Given the description of an element on the screen output the (x, y) to click on. 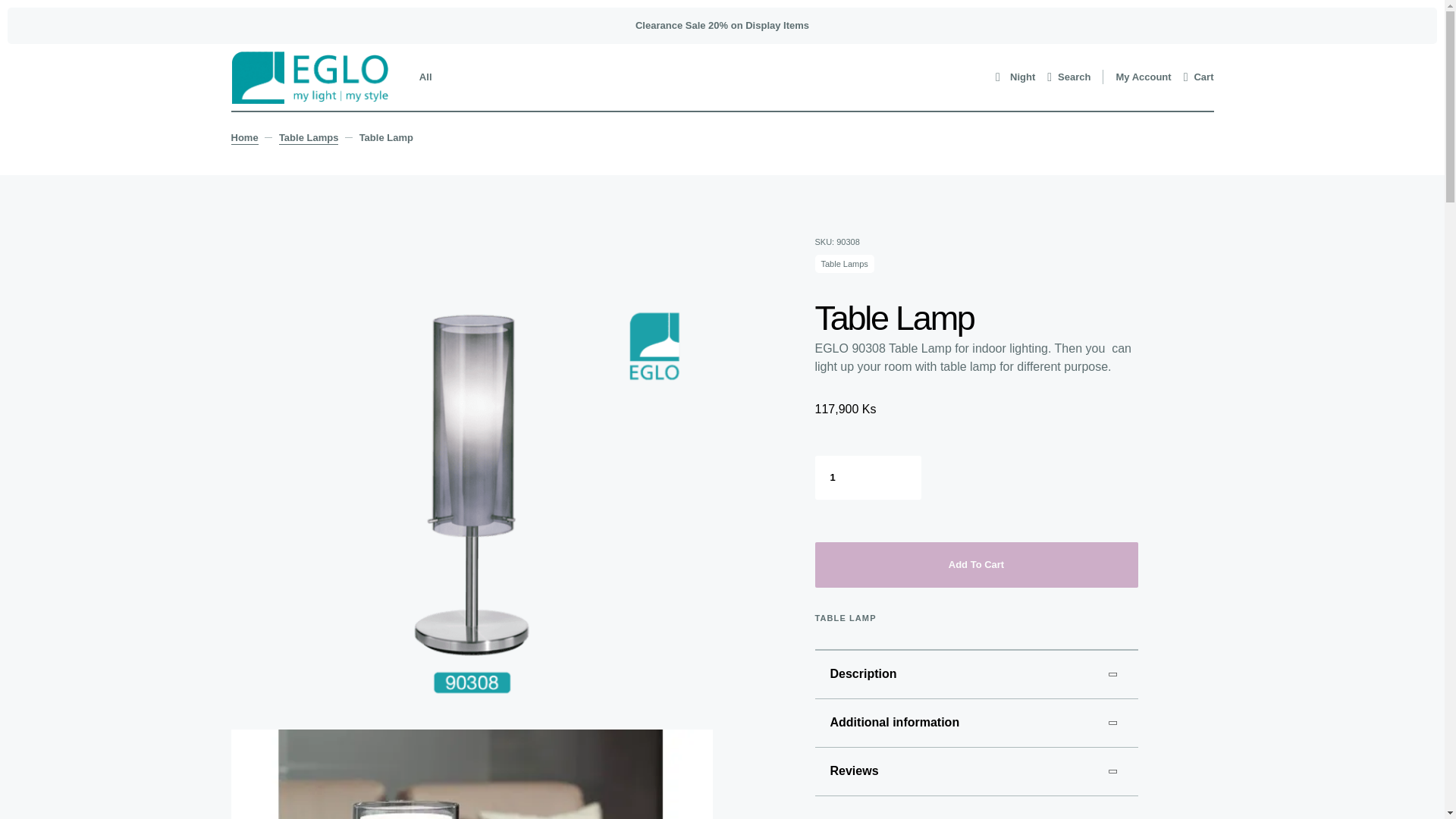
1 (866, 477)
View your shopping cart (1198, 77)
